Given the description of an element on the screen output the (x, y) to click on. 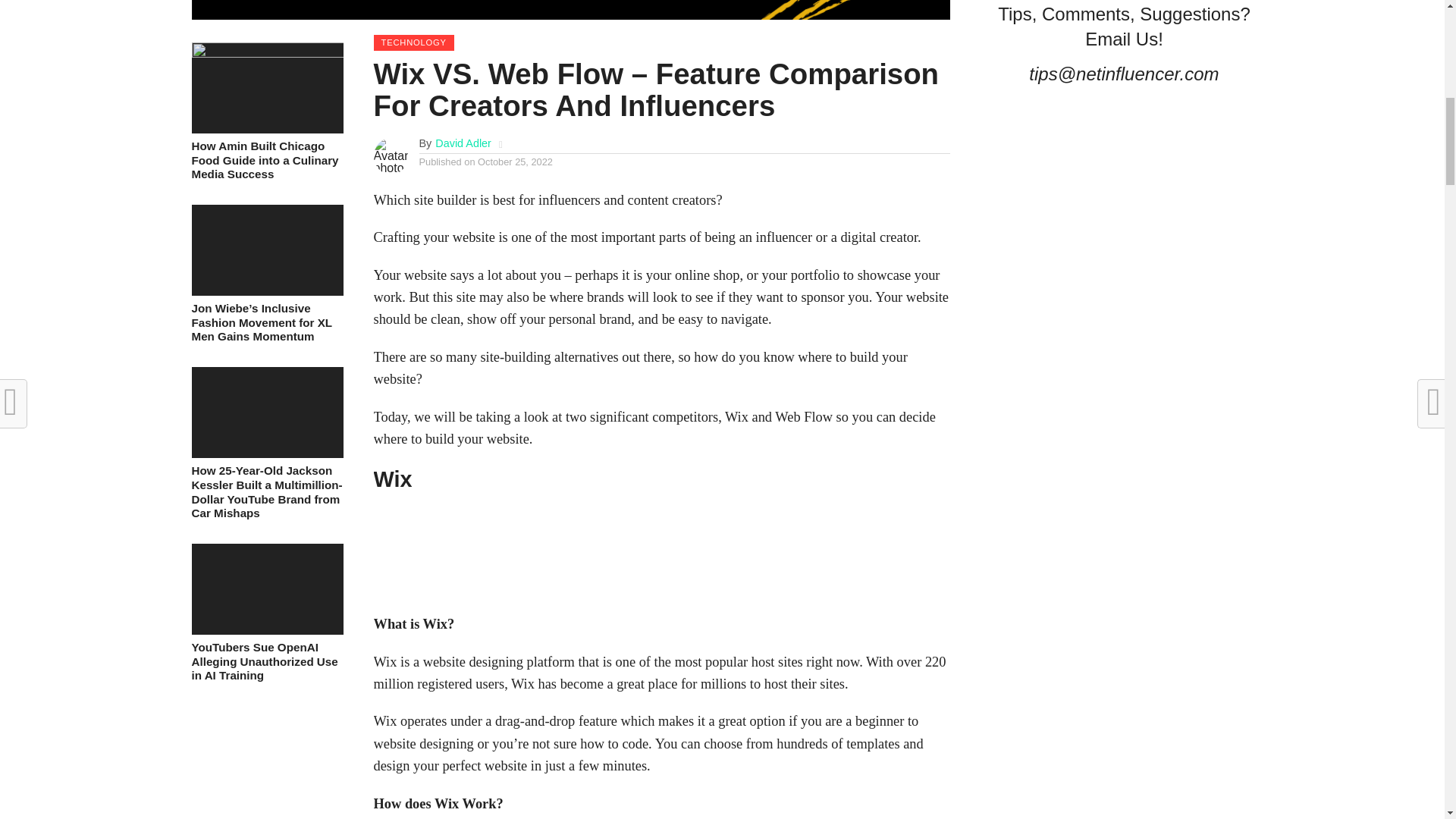
Posts by David Adler (463, 143)
